Given the description of an element on the screen output the (x, y) to click on. 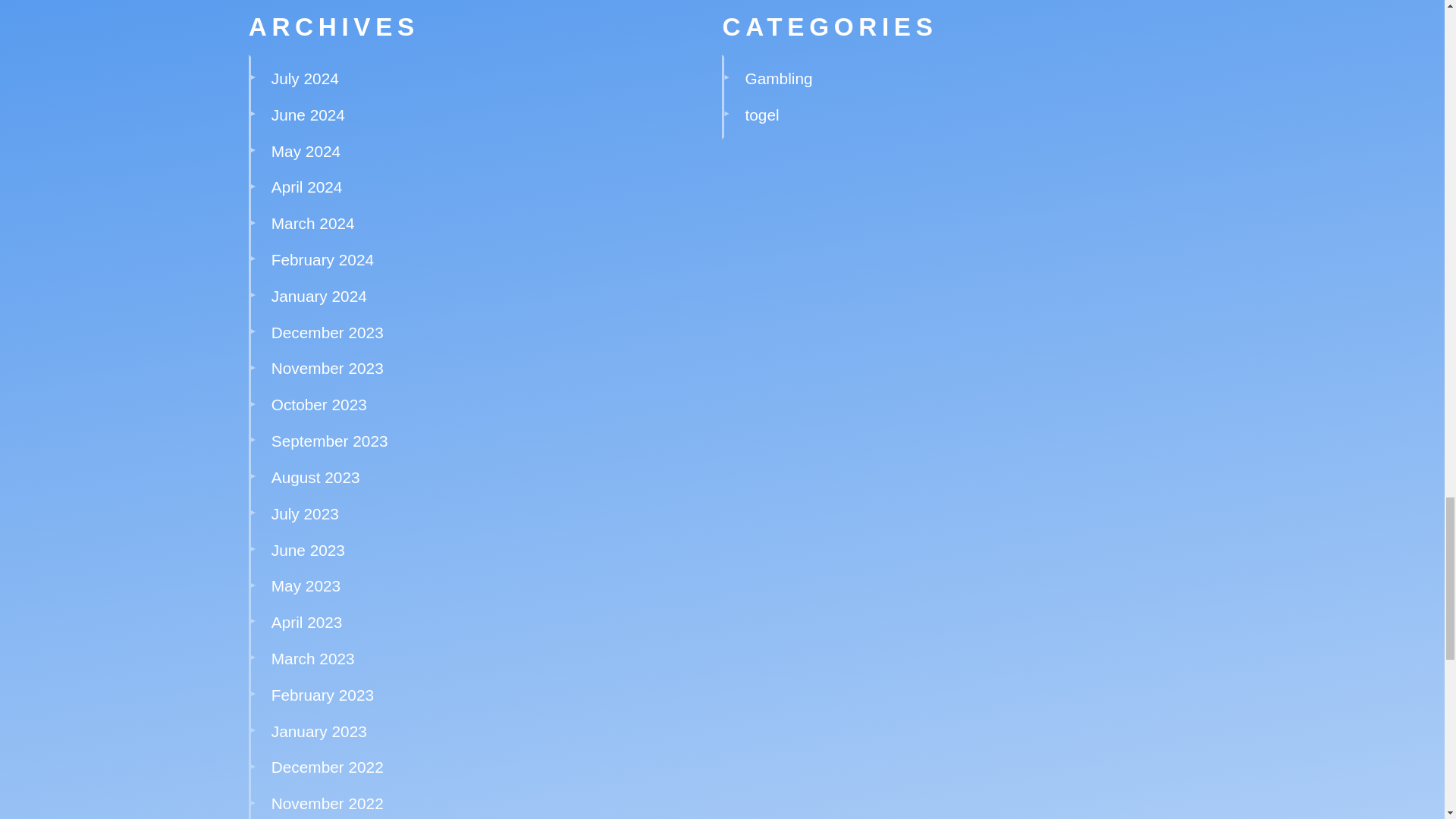
May 2023 (305, 585)
January 2024 (318, 295)
March 2023 (312, 658)
April 2023 (306, 621)
May 2024 (305, 150)
February 2024 (322, 259)
June 2023 (307, 549)
December 2023 (327, 332)
togel (761, 114)
July 2023 (304, 513)
November 2022 (327, 803)
June 2024 (307, 114)
November 2023 (327, 367)
July 2024 (304, 77)
December 2022 (327, 766)
